Given the description of an element on the screen output the (x, y) to click on. 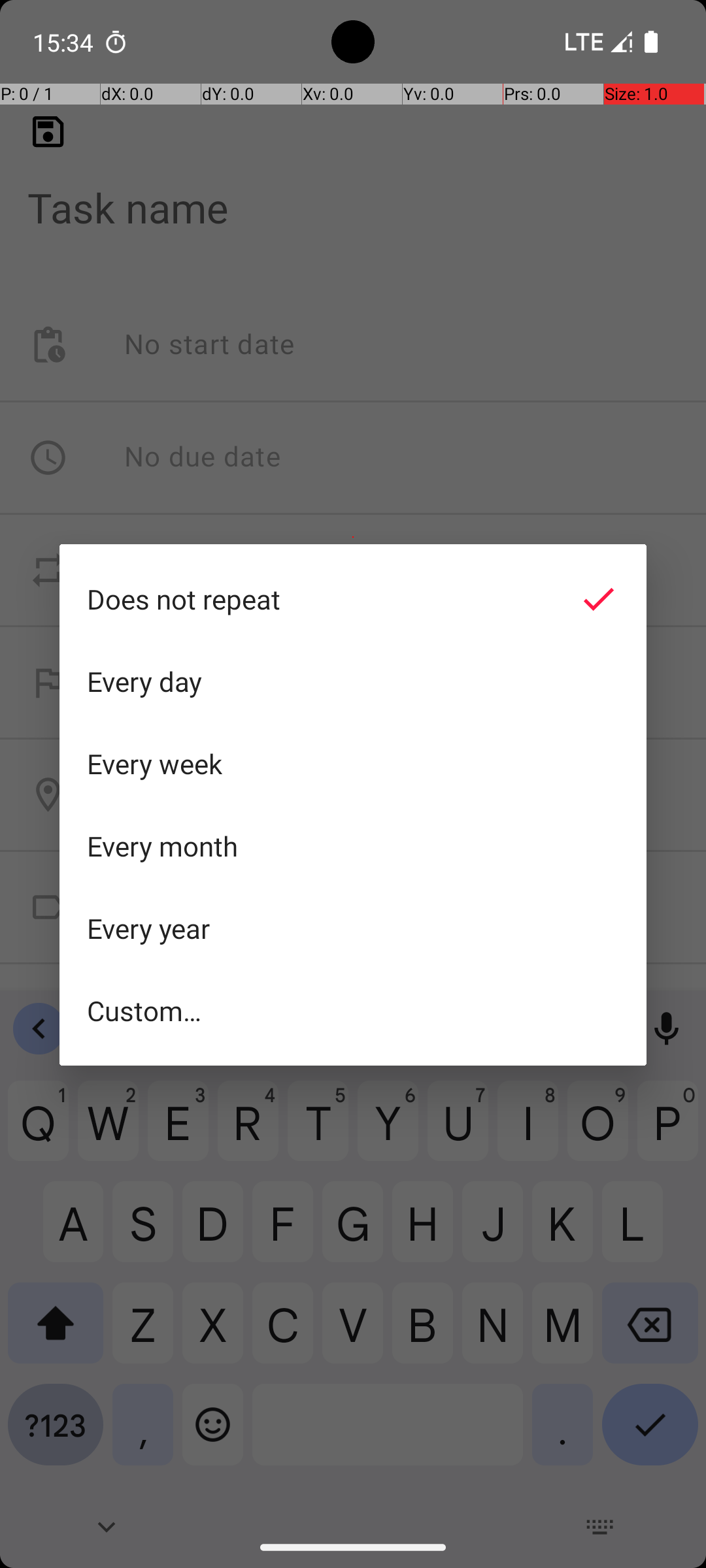
Every day Element type: android.widget.CheckedTextView (352, 681)
Every week Element type: android.widget.CheckedTextView (352, 763)
Every month Element type: android.widget.CheckedTextView (352, 845)
Every year Element type: android.widget.CheckedTextView (352, 928)
Custom… Element type: android.widget.CheckedTextView (352, 1010)
